Given the description of an element on the screen output the (x, y) to click on. 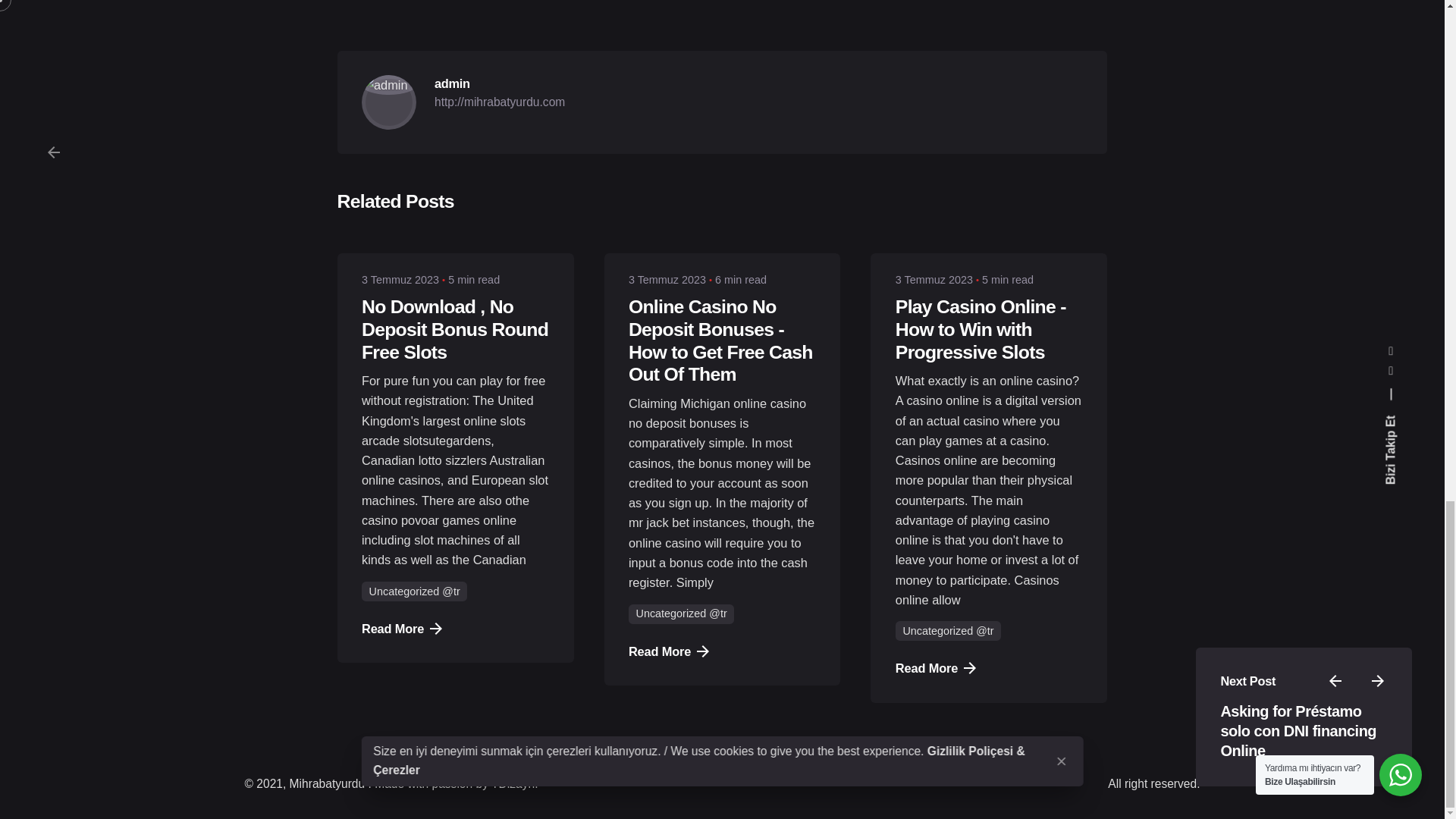
Read More (401, 628)
TDizayn (513, 783)
mr jack bet (658, 522)
Read More (668, 651)
Read More (935, 668)
Play Casino Online - How to Win with Progressive Slots (980, 329)
casino povoa (398, 520)
No Download , No Deposit Bonus Round Free Slots (454, 329)
